Given the description of an element on the screen output the (x, y) to click on. 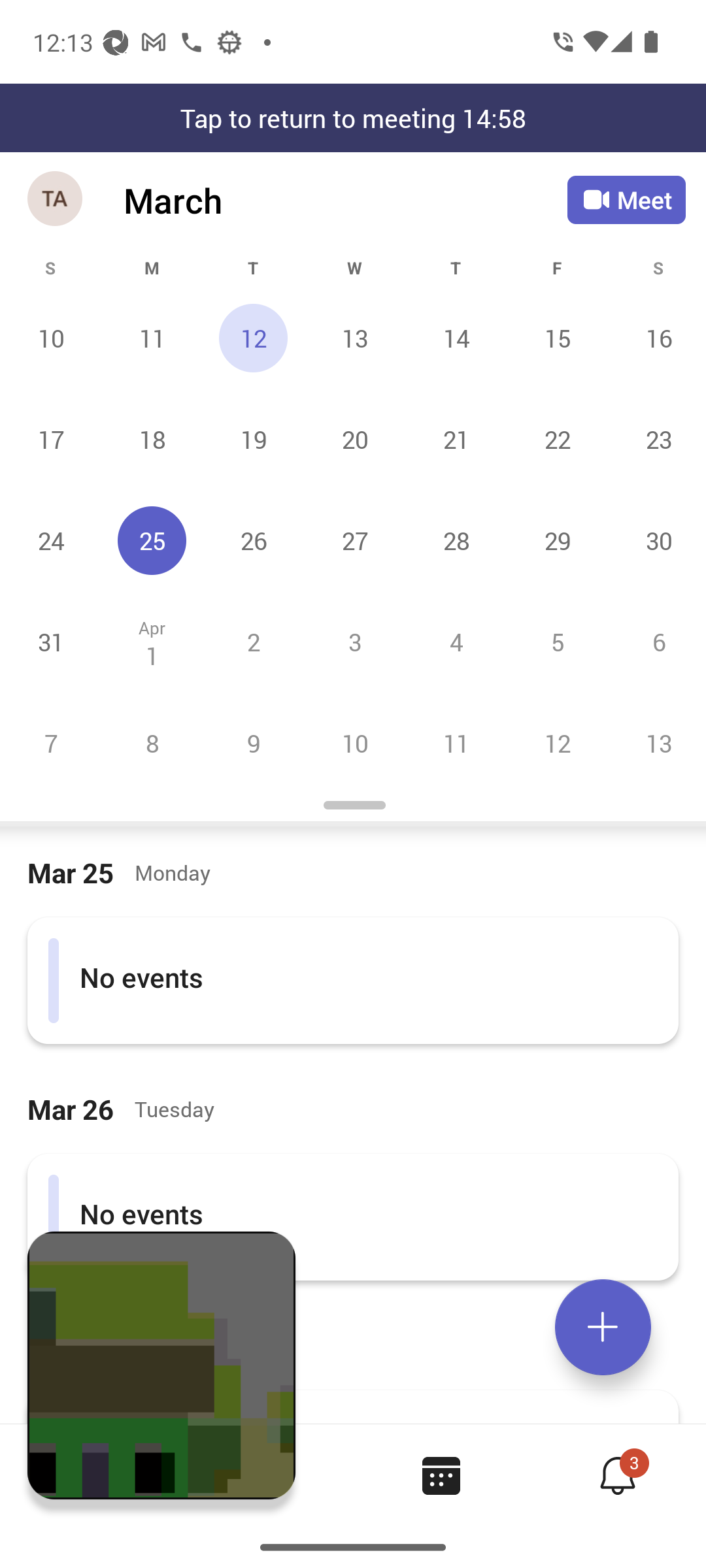
Tap to return to meeting 14:58 (353, 117)
Navigation (56, 199)
Meet Meet now or join with an ID (626, 199)
March March Calendar Agenda View (345, 199)
Sunday, March 10 10 (50, 337)
Monday, March 11 11 (151, 337)
Tuesday, March 12, Today 12 (253, 337)
Wednesday, March 13 13 (354, 337)
Thursday, March 14 14 (455, 337)
Friday, March 15 15 (556, 337)
Saturday, March 16 16 (656, 337)
Sunday, March 17 17 (50, 438)
Monday, March 18 18 (151, 438)
Tuesday, March 19 19 (253, 438)
Wednesday, March 20 20 (354, 438)
Thursday, March 21 21 (455, 438)
Friday, March 22 22 (556, 438)
Saturday, March 23 23 (656, 438)
Sunday, March 24 24 (50, 540)
Monday, March 25, Selected 25 (151, 540)
Tuesday, March 26 26 (253, 540)
Wednesday, March 27 27 (354, 540)
Thursday, March 28 28 (455, 540)
Friday, March 29 29 (556, 540)
Saturday, March 30 30 (656, 540)
Sunday, March 31 31 (50, 642)
Monday, April 1 Apr 1 (151, 642)
Tuesday, April 2 2 (253, 642)
Wednesday, April 3 3 (354, 642)
Thursday, April 4 4 (455, 642)
Friday, April 5 5 (556, 642)
Saturday, April 6 6 (656, 642)
Sunday, April 7 7 (50, 743)
Monday, April 8 8 (151, 743)
Tuesday, April 9 9 (253, 743)
Wednesday, April 10 10 (354, 743)
Thursday, April 11 11 (455, 743)
Friday, April 12 12 (556, 743)
Saturday, April 13 13 (656, 743)
Expand meetings menu (602, 1327)
Calendar tab, 3 of 4 (441, 1475)
Activity tab,4 of 4, not selected, 3 new 3 (617, 1475)
